Given the description of an element on the screen output the (x, y) to click on. 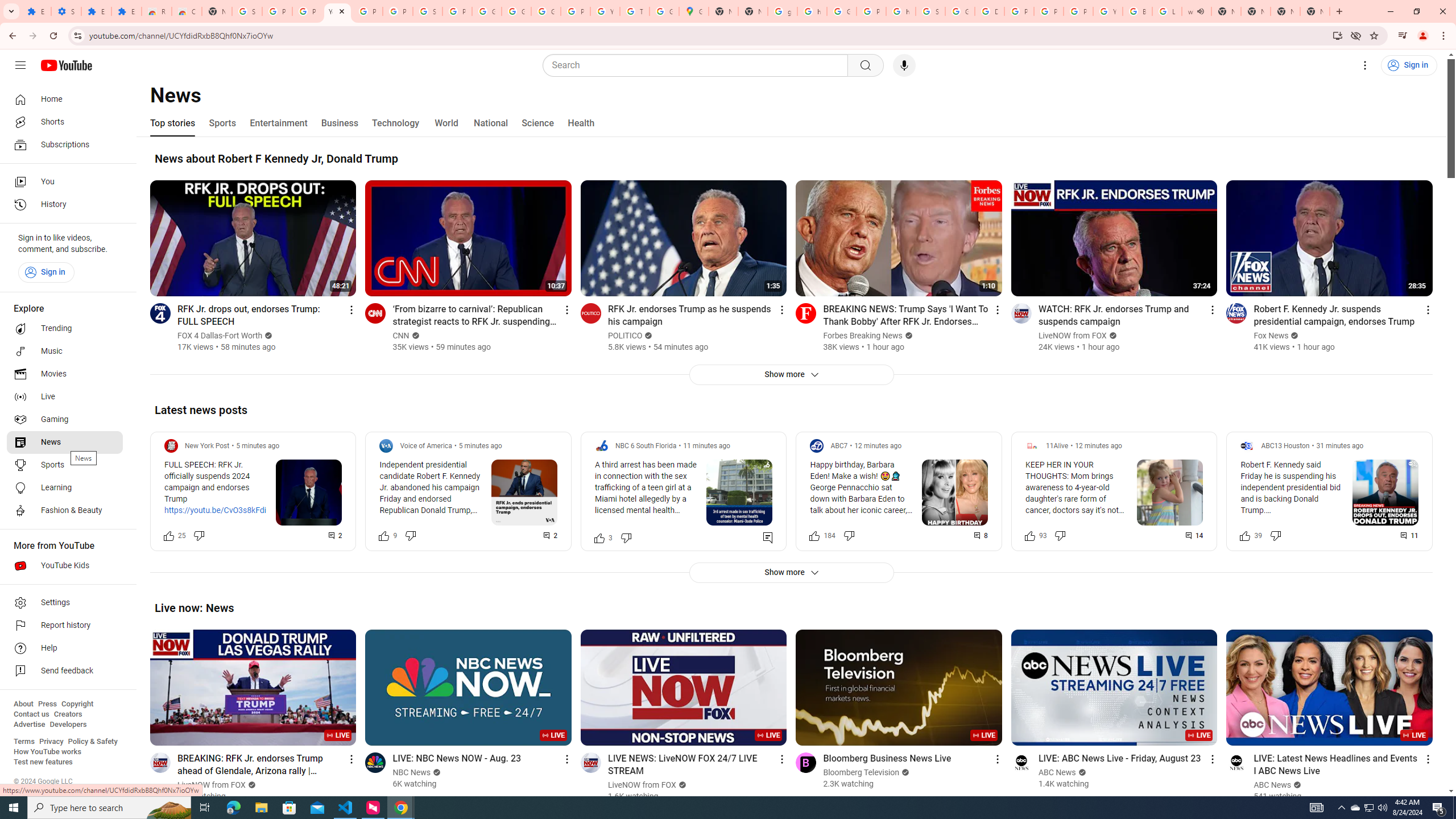
Fox News (1271, 335)
Google Account (486, 11)
Trending (64, 328)
Technology (395, 122)
Extensions (95, 11)
